Given the description of an element on the screen output the (x, y) to click on. 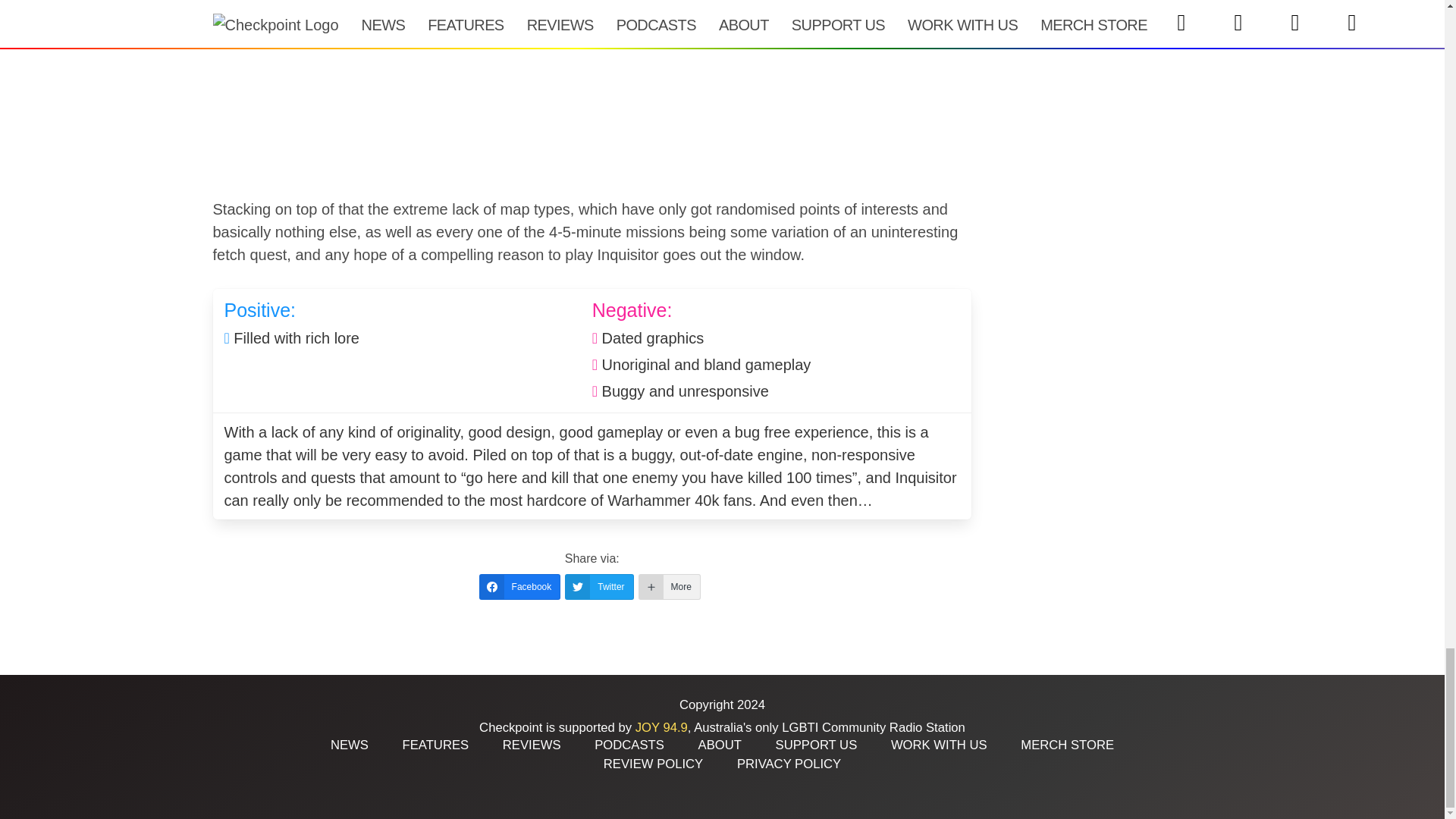
Facebook (519, 586)
More (669, 586)
Twitter (598, 586)
